Given the description of an element on the screen output the (x, y) to click on. 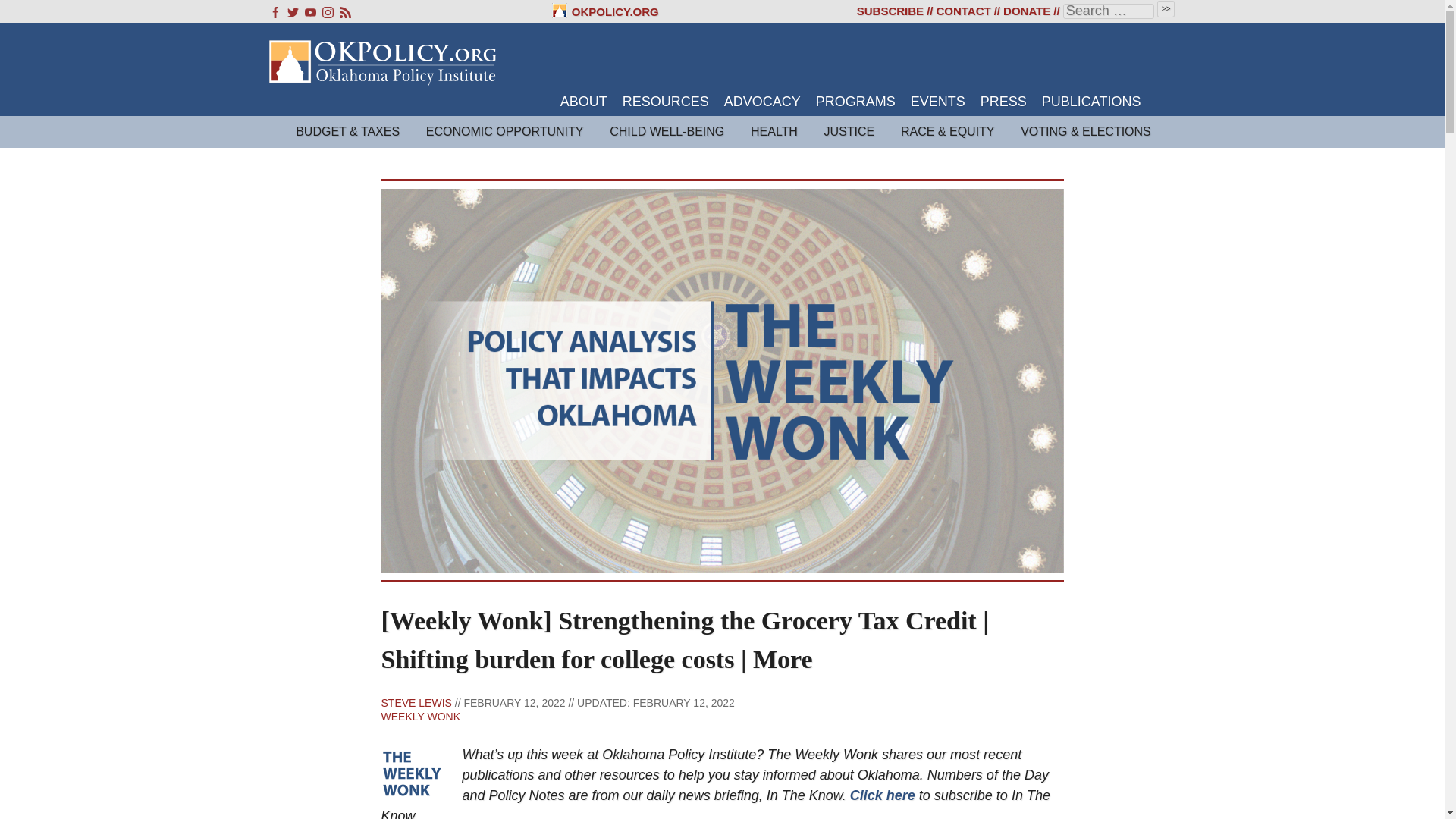
CONTACT (963, 10)
RESOURCES (666, 101)
ADVOCACY (761, 101)
EVENTS (938, 101)
SUBSCRIBE (890, 10)
DONATE (1026, 10)
OKPOLICY.ORG (605, 11)
PRESS (1002, 101)
PROGRAMS (855, 101)
ABOUT (583, 101)
